Given the description of an element on the screen output the (x, y) to click on. 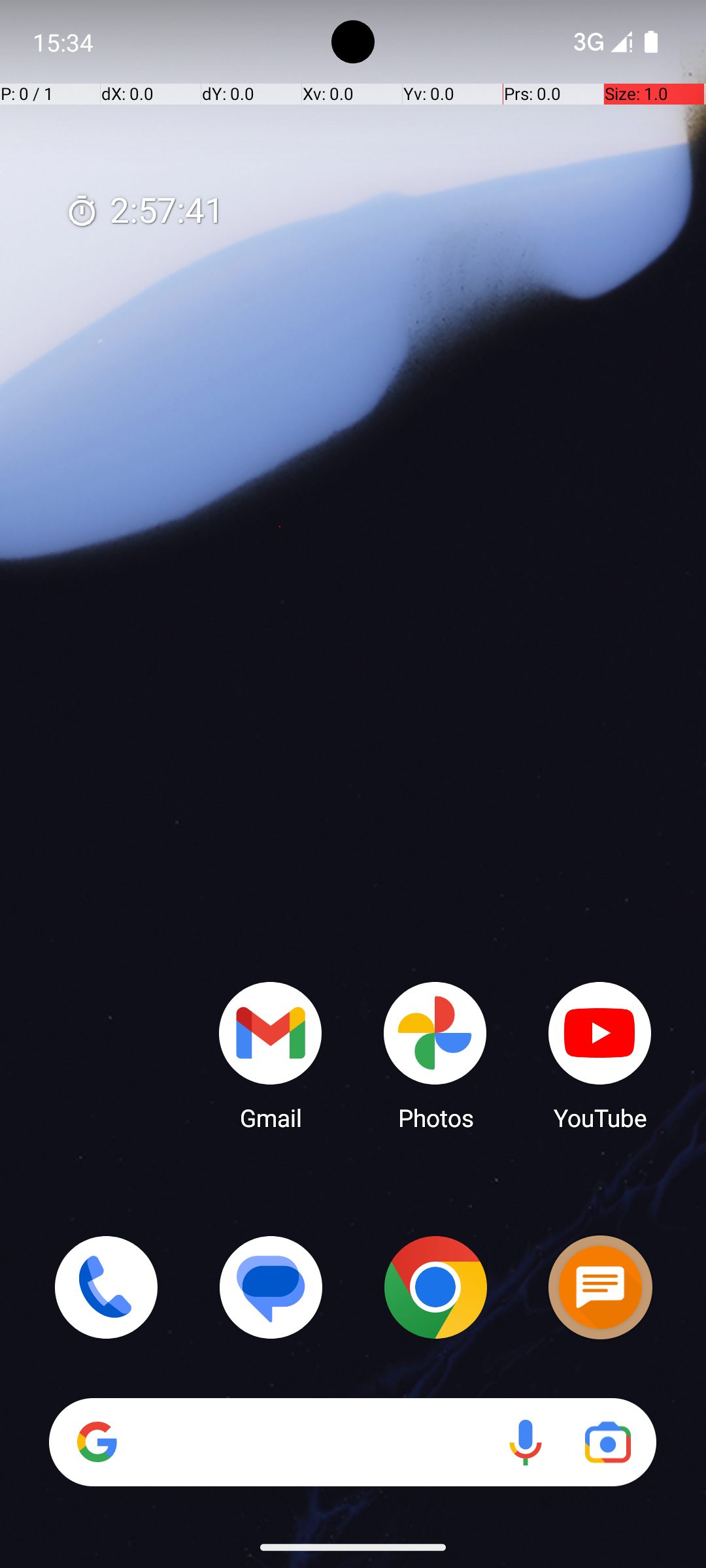
2:57:40 Element type: android.widget.TextView (144, 210)
